Given the description of an element on the screen output the (x, y) to click on. 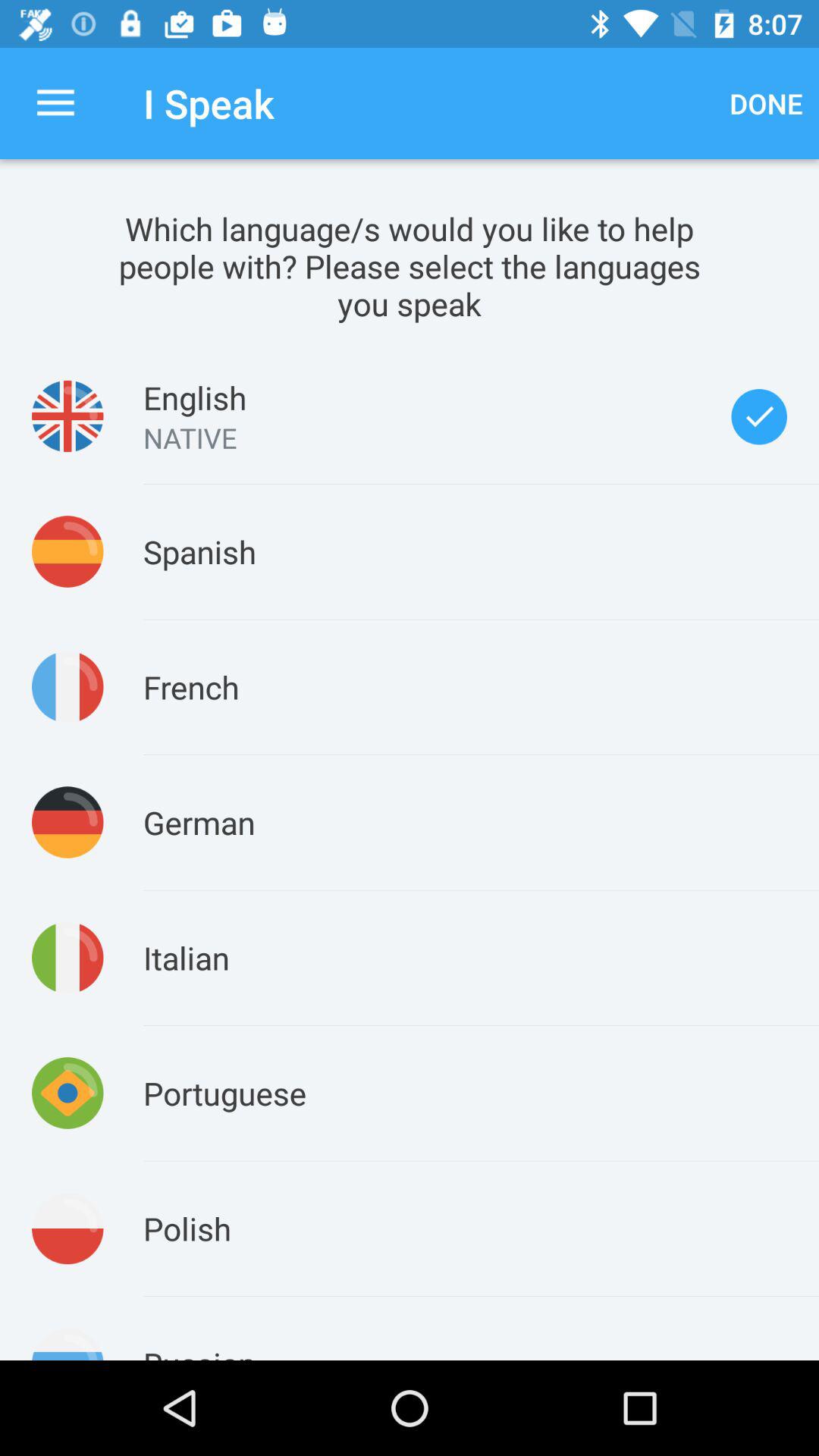
open the item to the left of the i speak (55, 103)
